Given the description of an element on the screen output the (x, y) to click on. 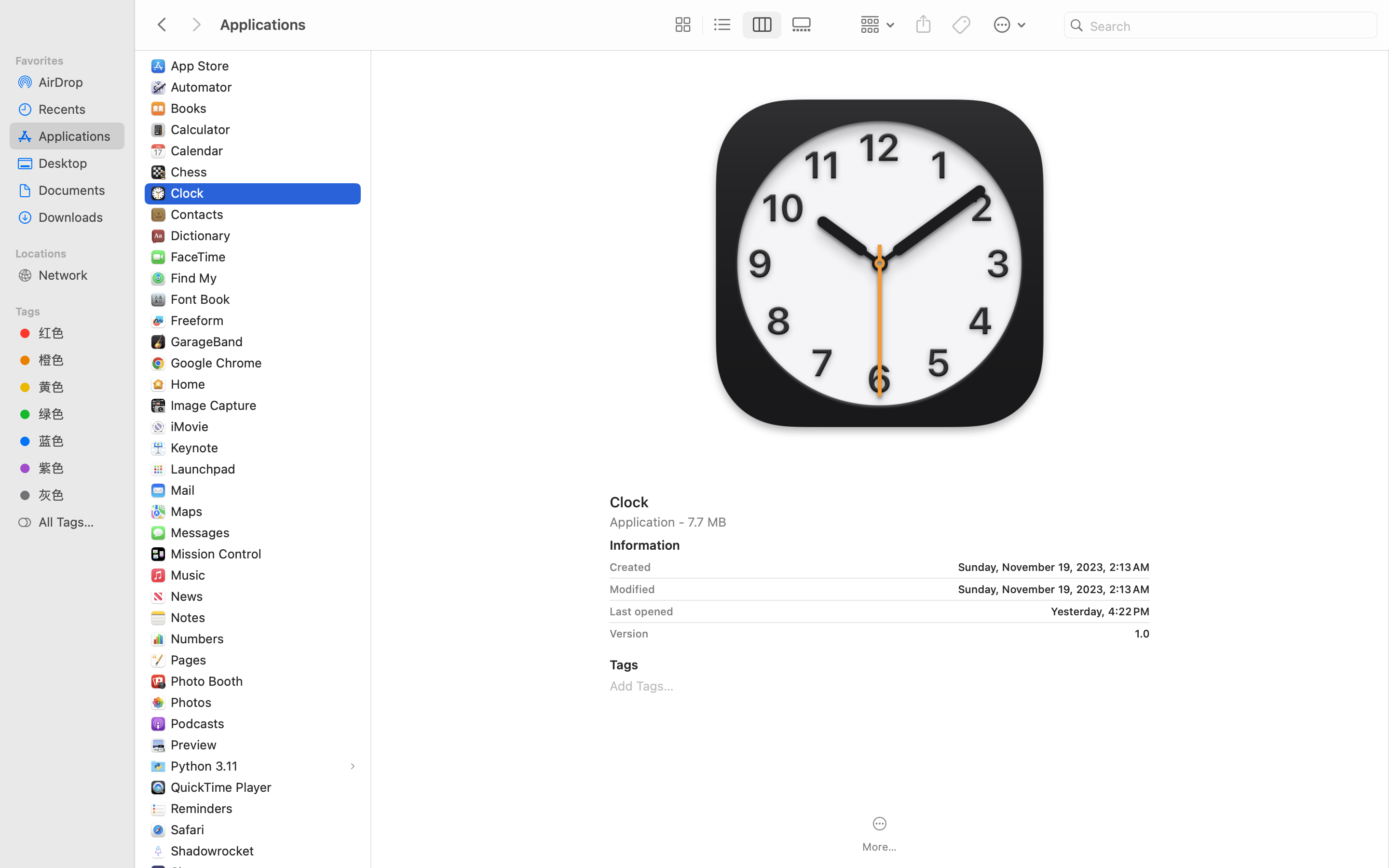
Pages Element type: AXTextField (190, 659)
0.0 Element type: AXScrollBar (427, 449)
Last opened Element type: AXStaticText (641, 611)
Network Element type: AXStaticText (77, 274)
App Store Element type: AXTextField (201, 65)
